Given the description of an element on the screen output the (x, y) to click on. 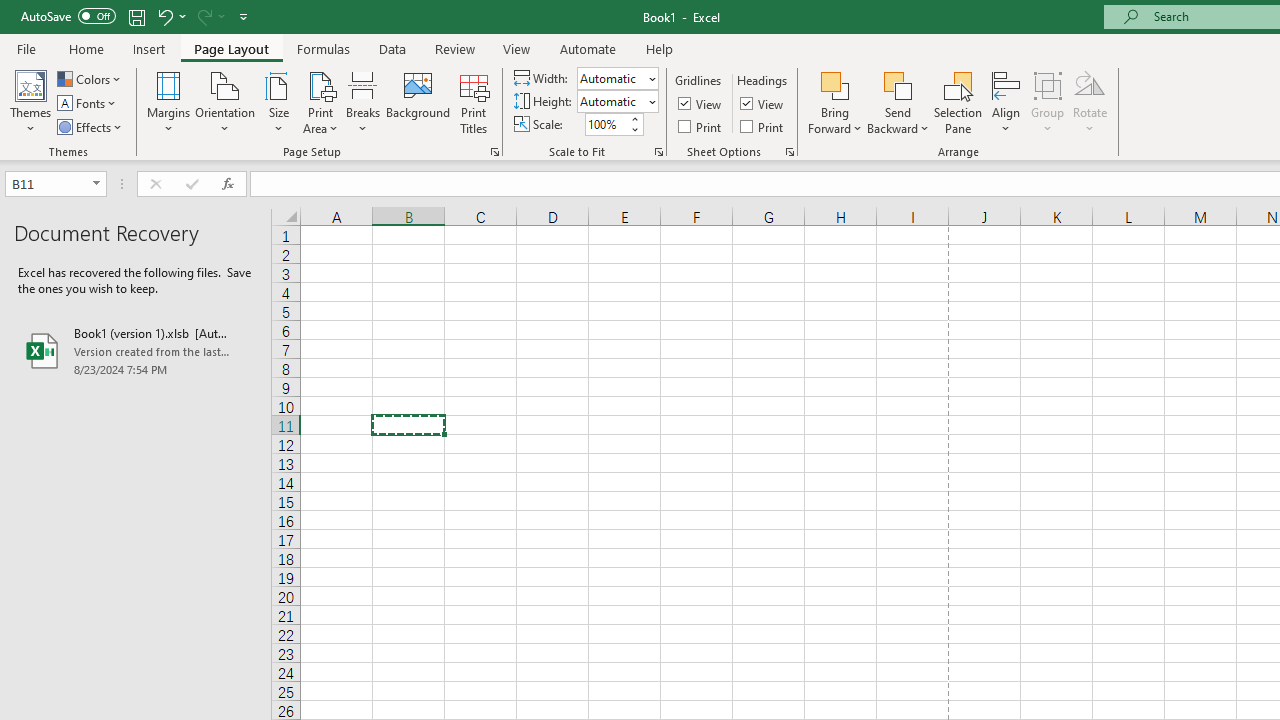
Orientation (225, 102)
Sheet Options (789, 151)
Bring Forward (835, 84)
Fonts (87, 103)
Print (763, 126)
More (633, 118)
